Given the description of an element on the screen output the (x, y) to click on. 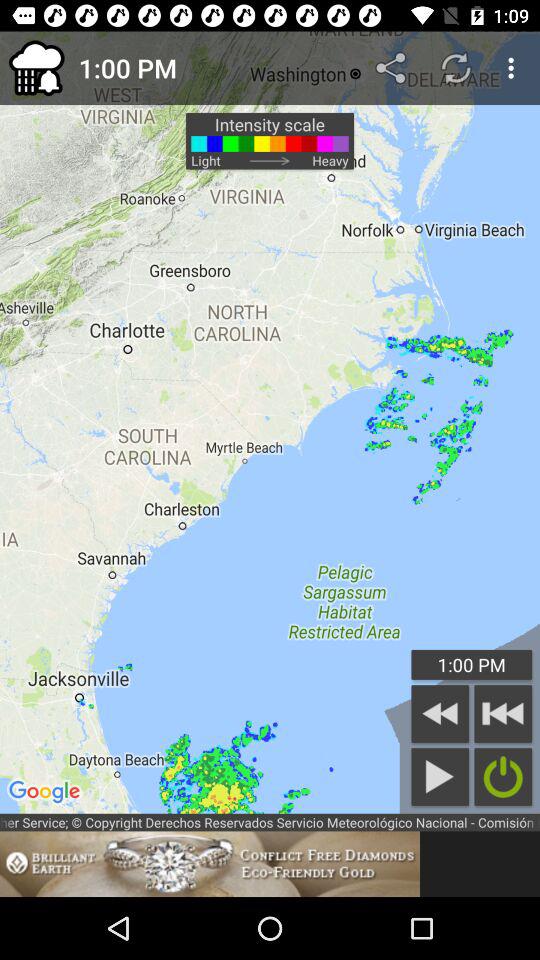
play (440, 776)
